Given the description of an element on the screen output the (x, y) to click on. 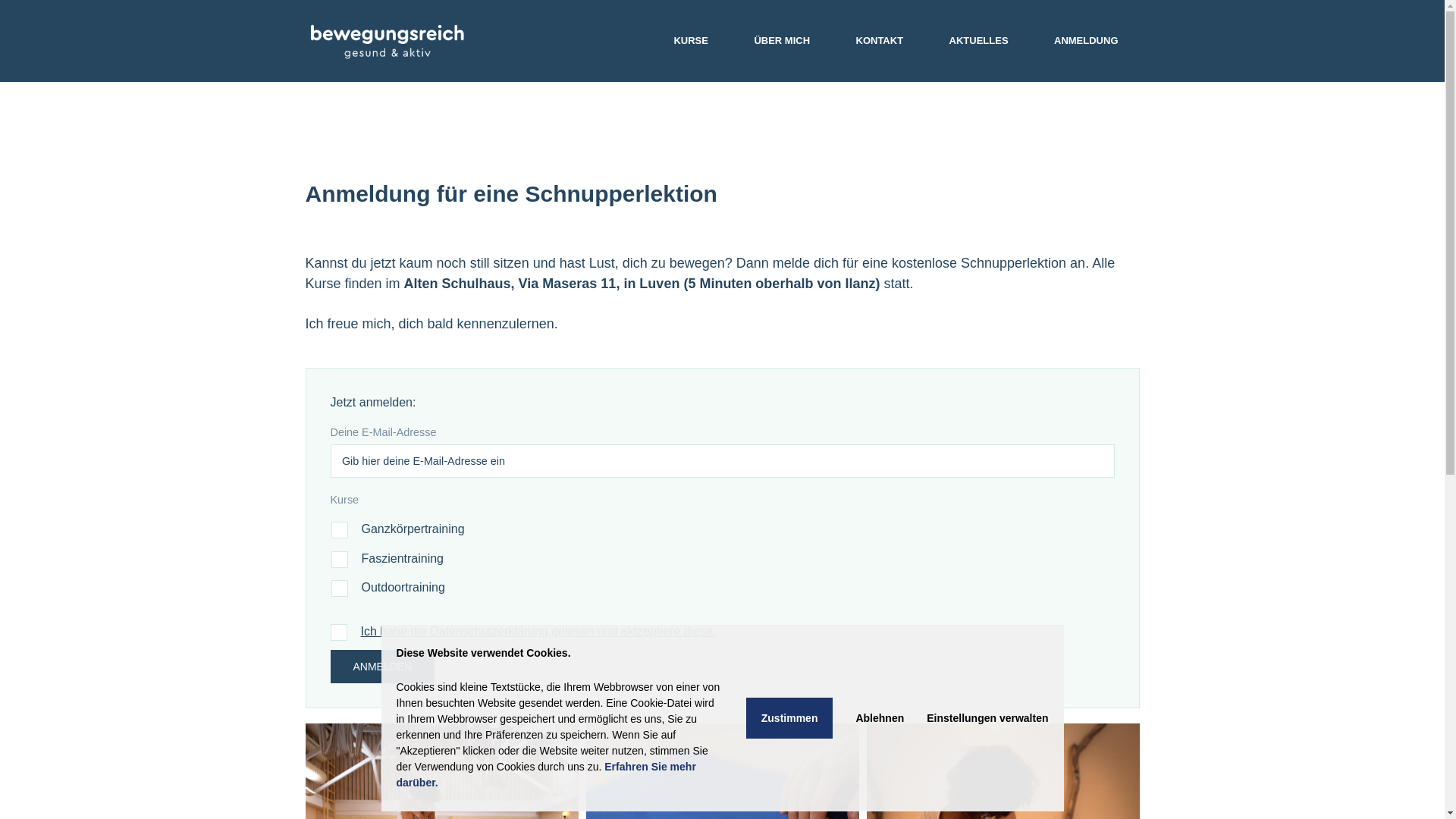
ANMELDUNG Element type: text (1085, 40)
KONTAKT Element type: text (879, 40)
Zustimmen Element type: text (789, 717)
AKTUELLES Element type: text (978, 40)
ANMELDEN Element type: text (382, 666)
logo Element type: hover (386, 40)
Ablehnen Element type: text (879, 717)
KURSE Element type: text (690, 40)
Einstellungen verwalten Element type: text (987, 717)
